Given the description of an element on the screen output the (x, y) to click on. 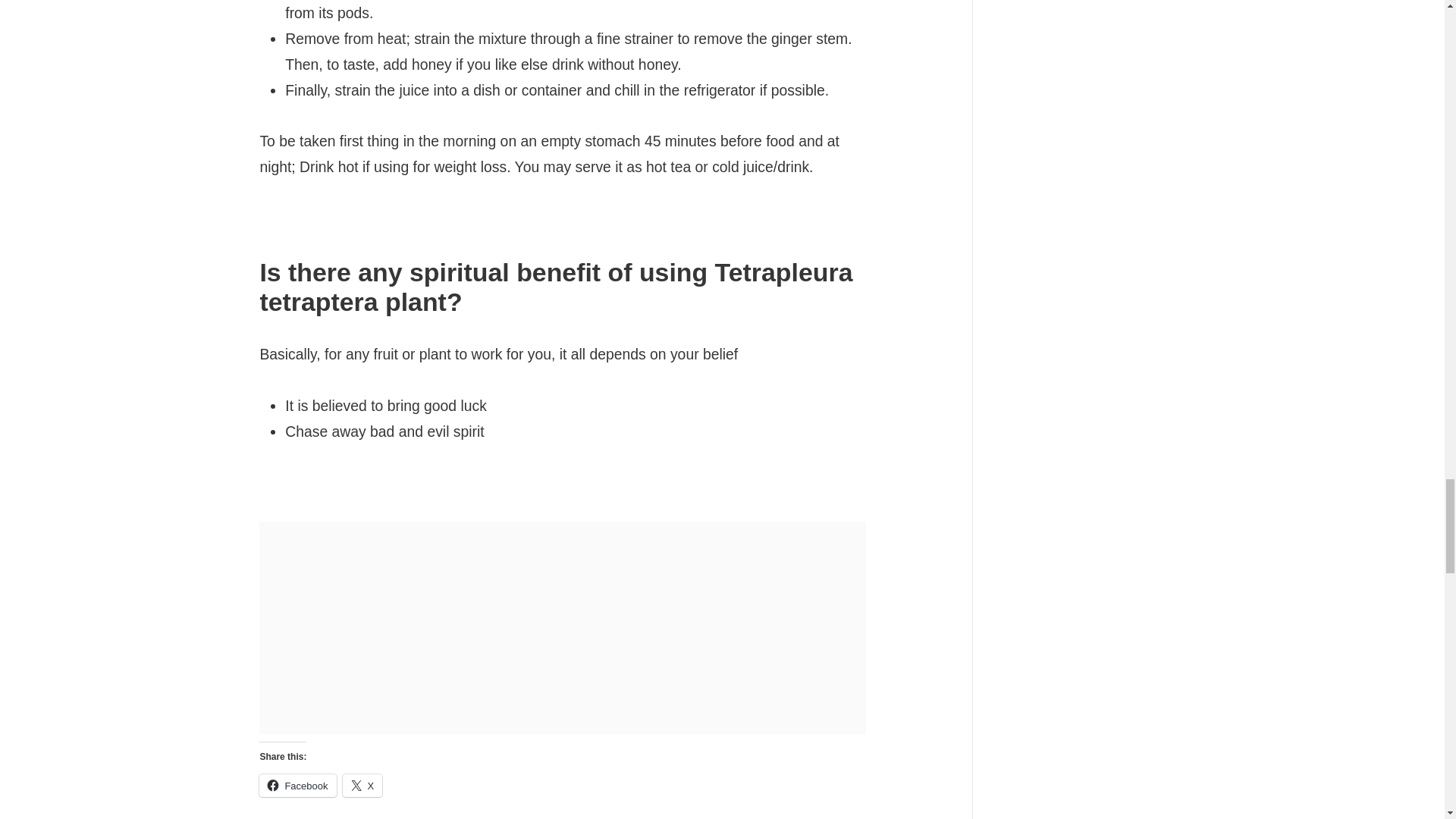
Facebook (297, 784)
X (362, 784)
Click to share on Facebook (297, 784)
Click to share on X (362, 784)
